Given the description of an element on the screen output the (x, y) to click on. 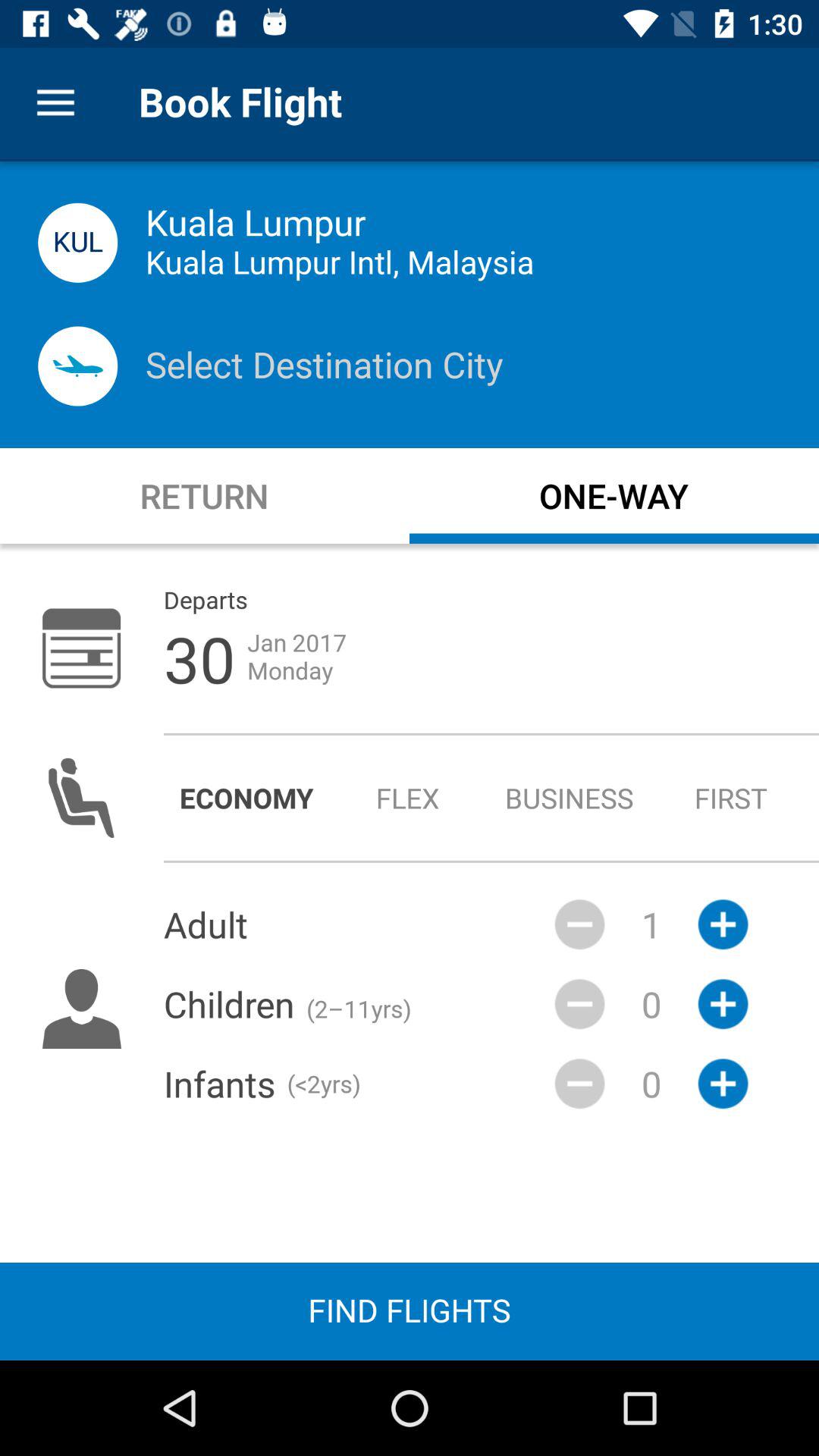
click the icon to the left of the book flight item (55, 103)
